Given the description of an element on the screen output the (x, y) to click on. 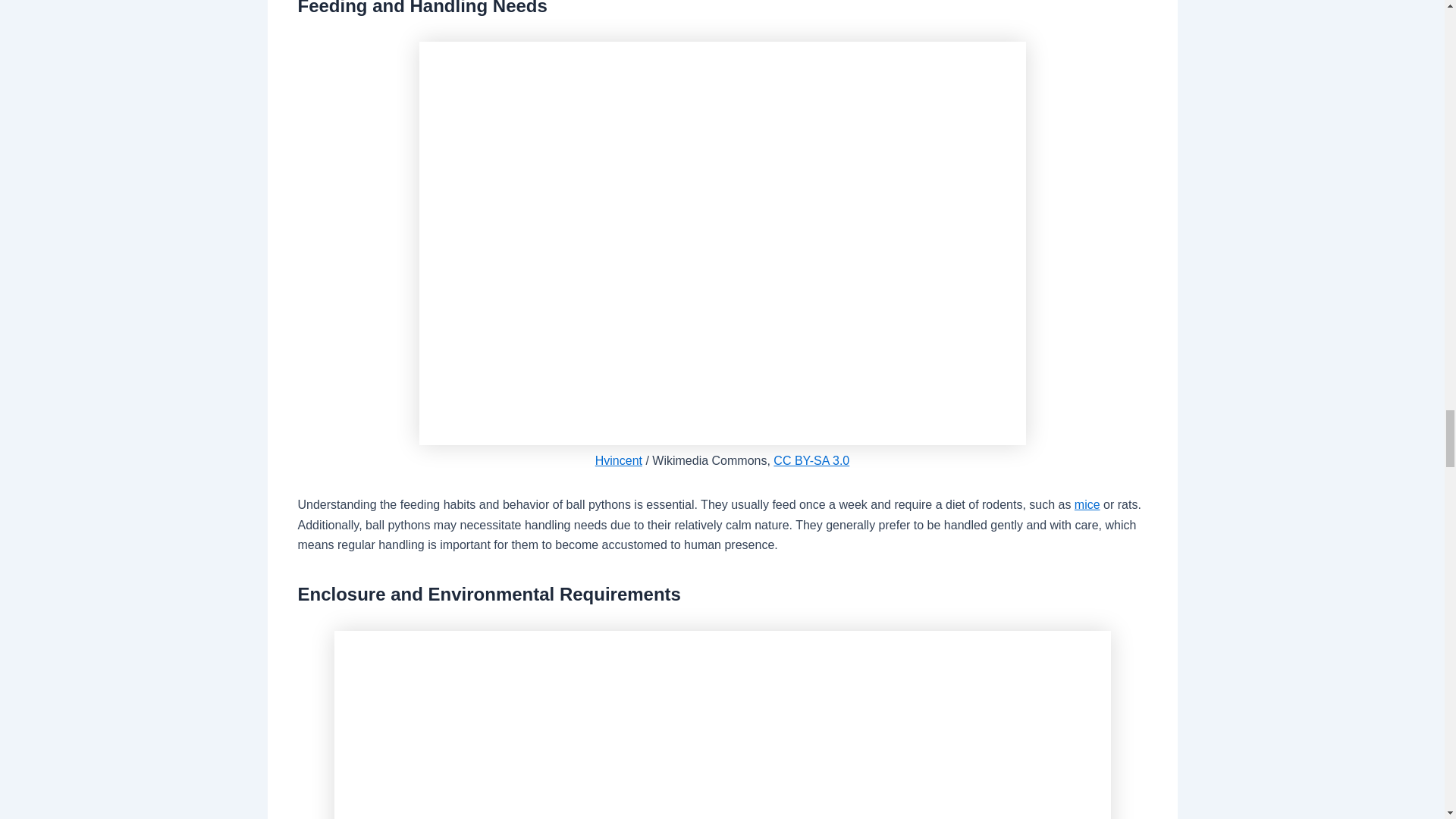
CC BY-SA 3.0 (810, 460)
mice (1087, 504)
Hvincent (618, 460)
